Given the description of an element on the screen output the (x, y) to click on. 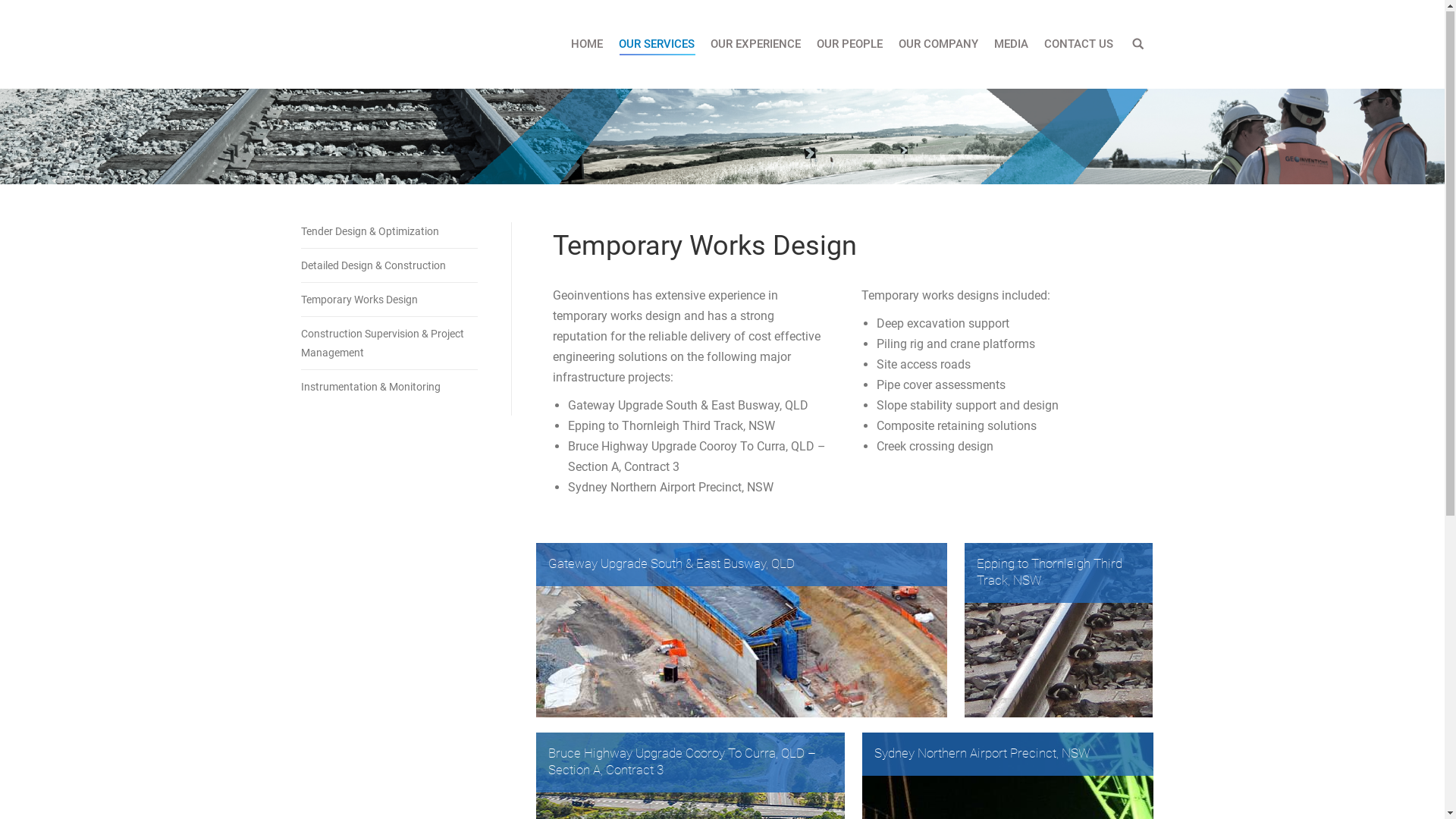
MEDIA Element type: text (1011, 45)
OUR SERVICES Element type: text (655, 45)
Construction Supervision & Project Management Element type: text (381, 343)
OUR COMPANY Element type: text (938, 45)
Go! Element type: text (19, 14)
Tender Design & Optimization Element type: text (374, 231)
OUR PEOPLE Element type: text (849, 45)
Detailed Design & Construction Element type: text (378, 266)
Temporary Works Design Element type: text (364, 300)
HOME Element type: text (586, 45)
CONTACT US Element type: text (1078, 45)
  Element type: text (1137, 44)
Instrumentation & Monitoring Element type: text (375, 387)
OUR EXPERIENCE Element type: text (755, 45)
